Given the description of an element on the screen output the (x, y) to click on. 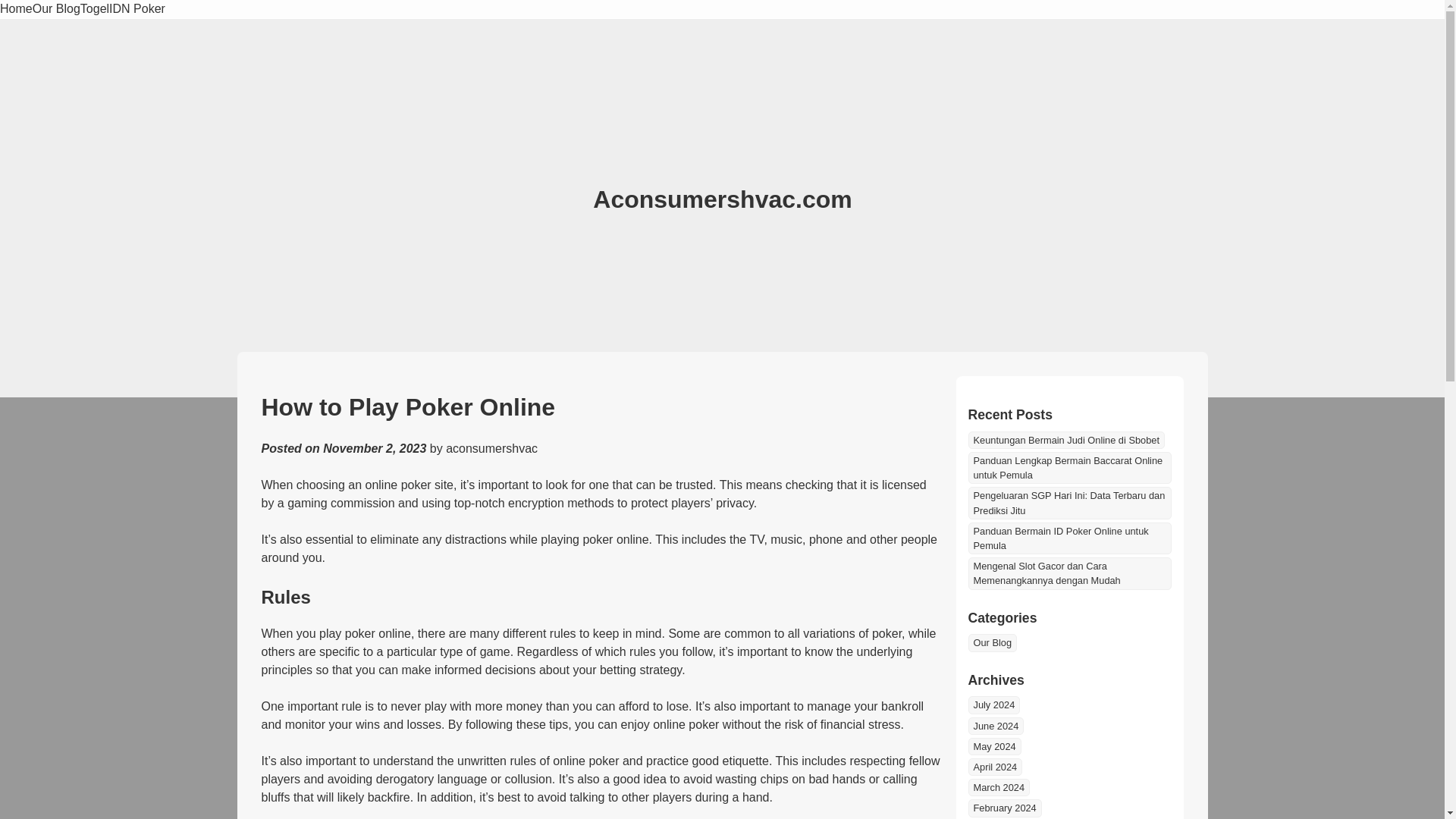
July 2024 (994, 704)
IDN Poker (137, 9)
March 2024 (998, 787)
Panduan Bermain ID Poker Online untuk Pemula (1069, 538)
Home (16, 9)
November 2, 2023 (374, 448)
Our Blog (992, 642)
April 2024 (995, 766)
Pengeluaran SGP Hari Ini: Data Terbaru dan Prediksi Jitu (1069, 502)
Our Blog (56, 9)
February 2024 (1004, 807)
May 2024 (994, 746)
Mengenal Slot Gacor dan Cara Memenangkannya dengan Mudah (1069, 572)
aconsumershvac (491, 448)
Togel (94, 9)
